Given the description of an element on the screen output the (x, y) to click on. 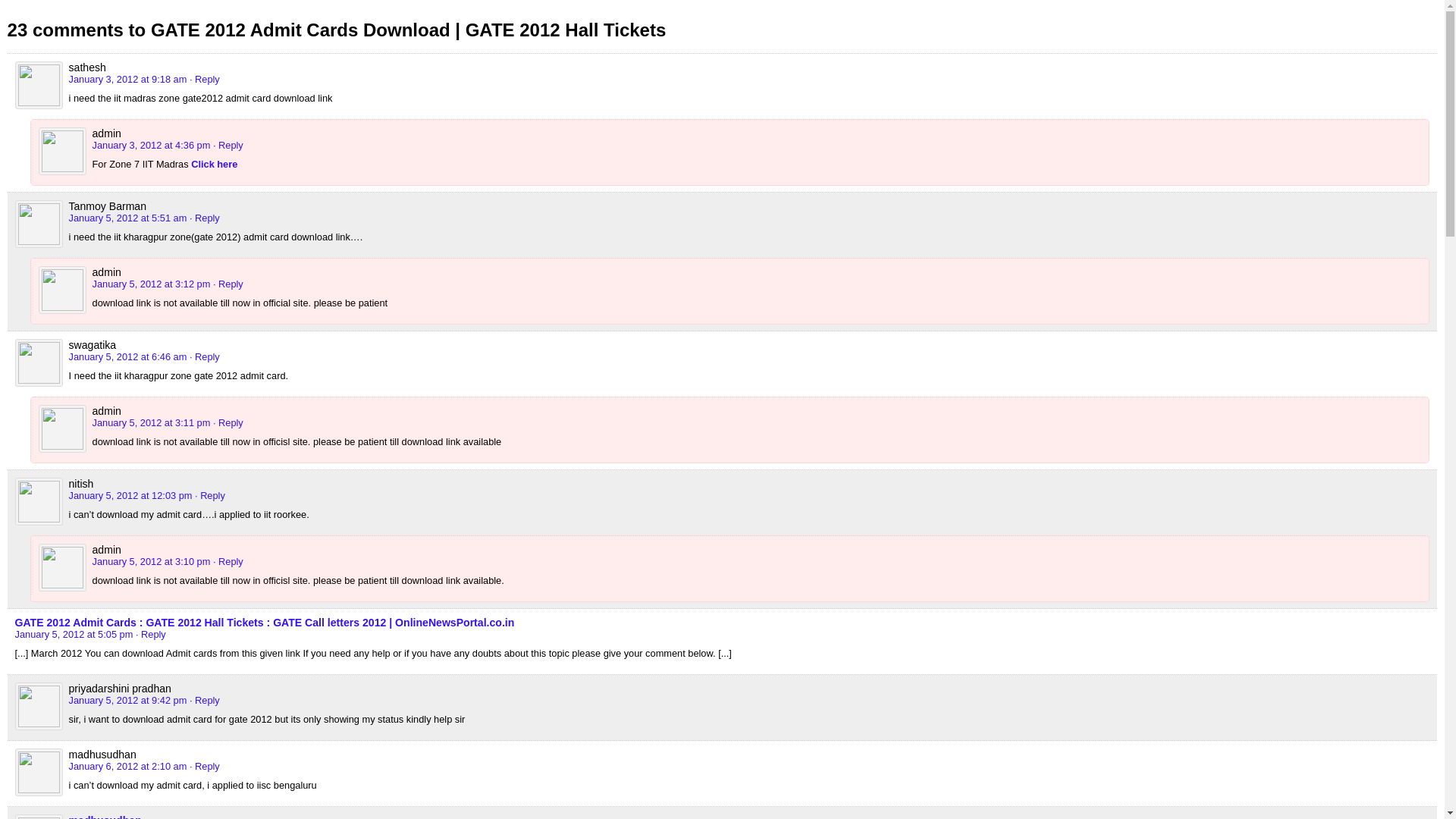
January 5, 2012 at 5:05 pm (73, 633)
January 5, 2012 at 3:11 pm (152, 422)
January 3, 2012 at 4:36 pm (152, 144)
January 5, 2012 at 6:46 am (127, 356)
January 5, 2012 at 5:51 am (127, 217)
January 3, 2012 at 9:18 am (127, 79)
madhusudhan (104, 816)
January 6, 2012 at 2:10 am (127, 766)
January 5, 2012 at 12:03 pm (130, 495)
January 5, 2012 at 9:42 pm (127, 699)
